Given the description of an element on the screen output the (x, y) to click on. 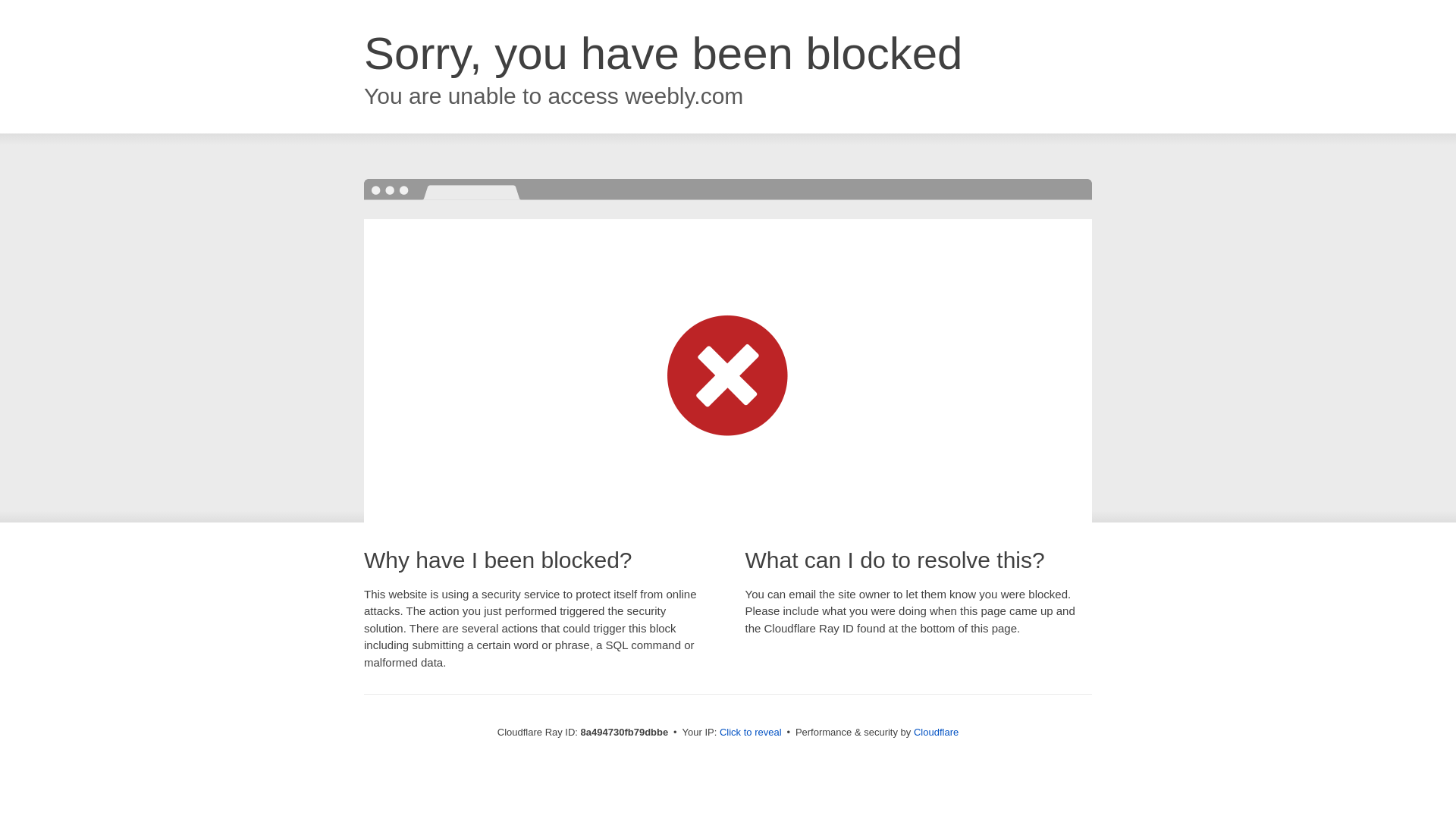
Cloudflare (936, 731)
Click to reveal (750, 732)
